Given the description of an element on the screen output the (x, y) to click on. 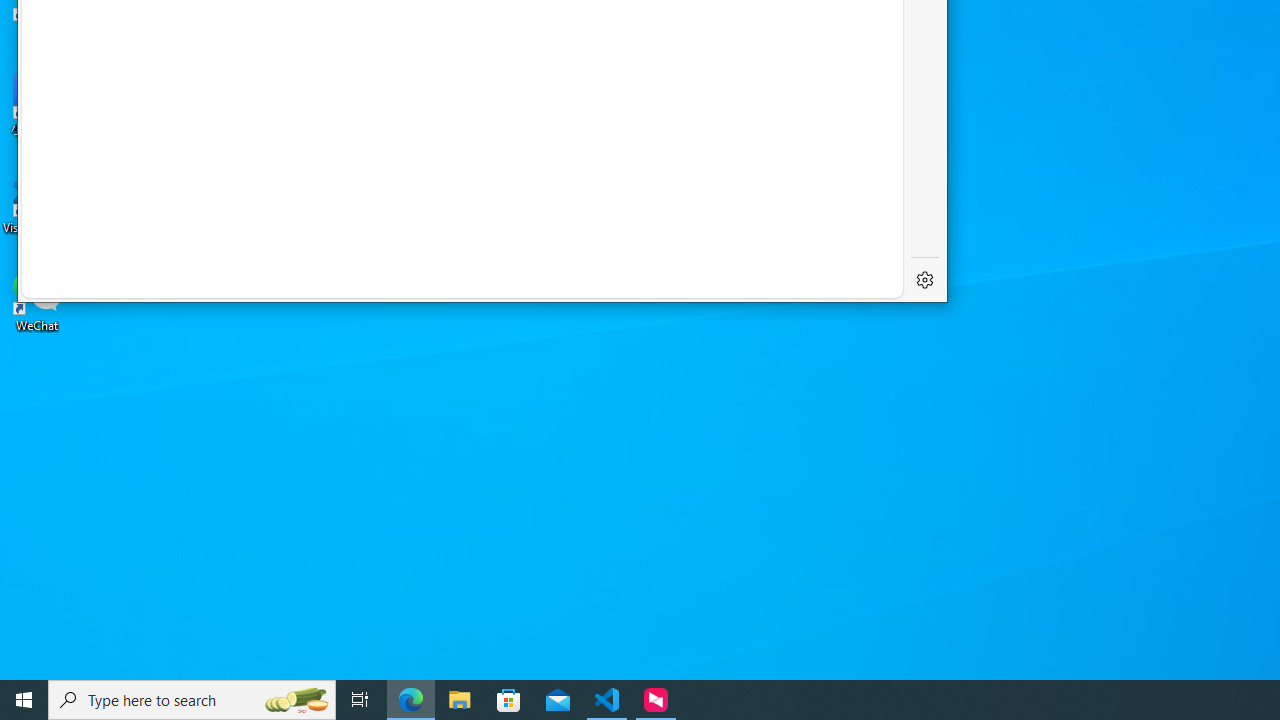
Search highlights icon opens search home window (295, 699)
Microsoft Store (509, 699)
Type here to search (191, 699)
Task View (359, 699)
Start (24, 699)
Visual Studio Code - 1 running window (607, 699)
Microsoft Edge - 1 running window (411, 699)
File Explorer (460, 699)
